Given the description of an element on the screen output the (x, y) to click on. 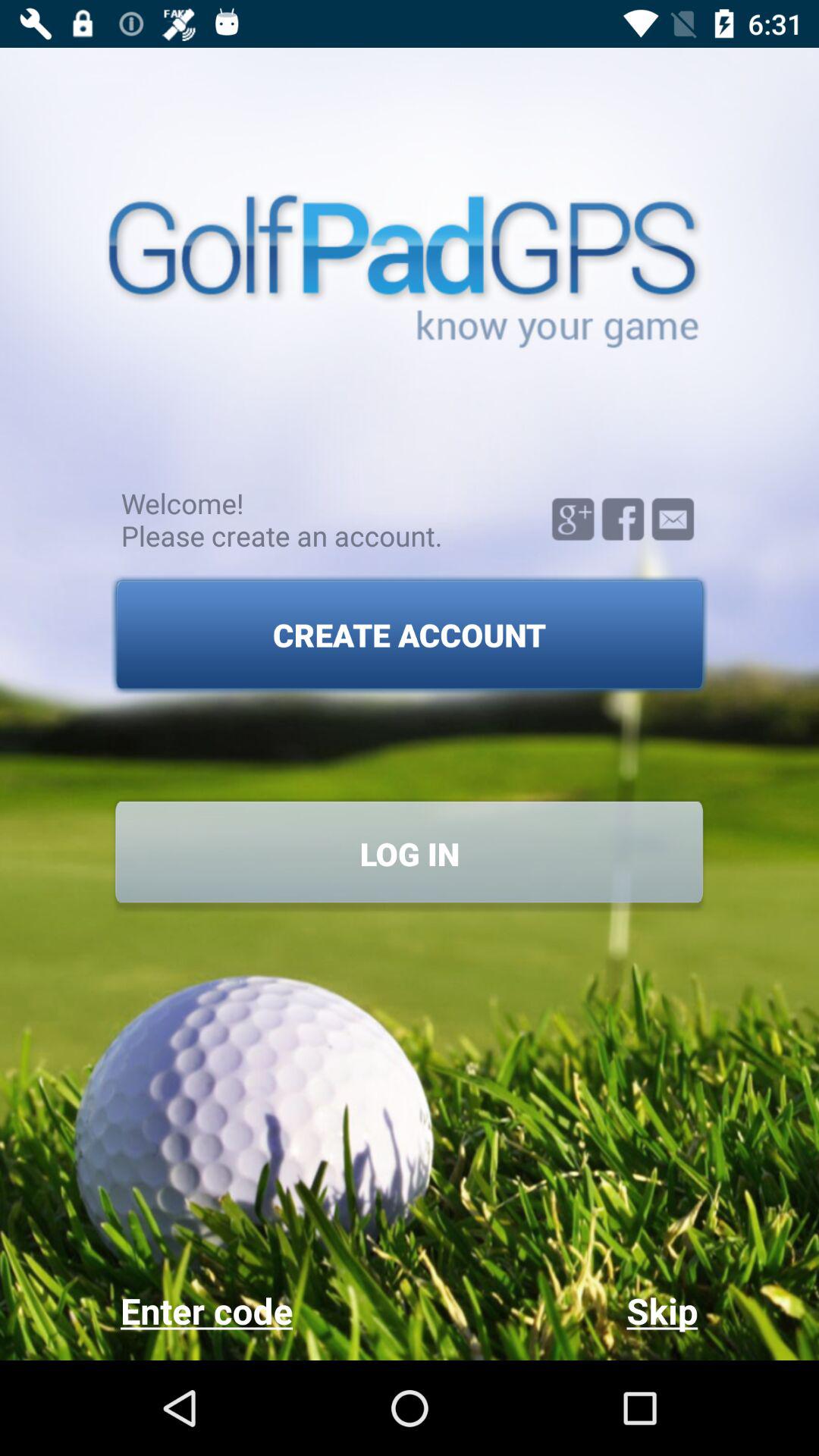
choose item below create account (409, 853)
